Given the description of an element on the screen output the (x, y) to click on. 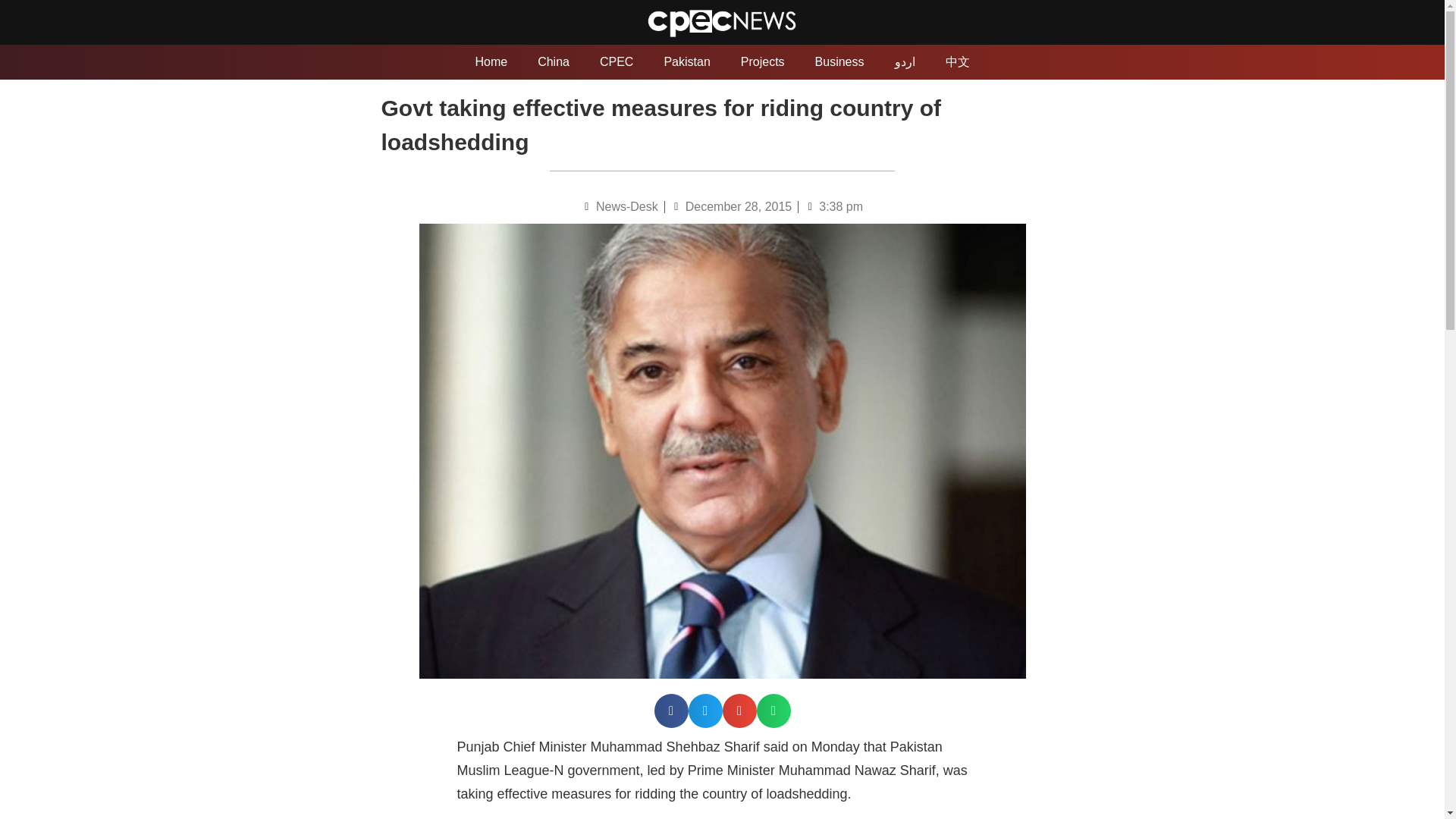
Pakistan (686, 62)
Business (839, 62)
CPEC (616, 62)
News-Desk (619, 207)
Home (491, 62)
Projects (762, 62)
December 28, 2015 (731, 207)
China (553, 62)
